Given the description of an element on the screen output the (x, y) to click on. 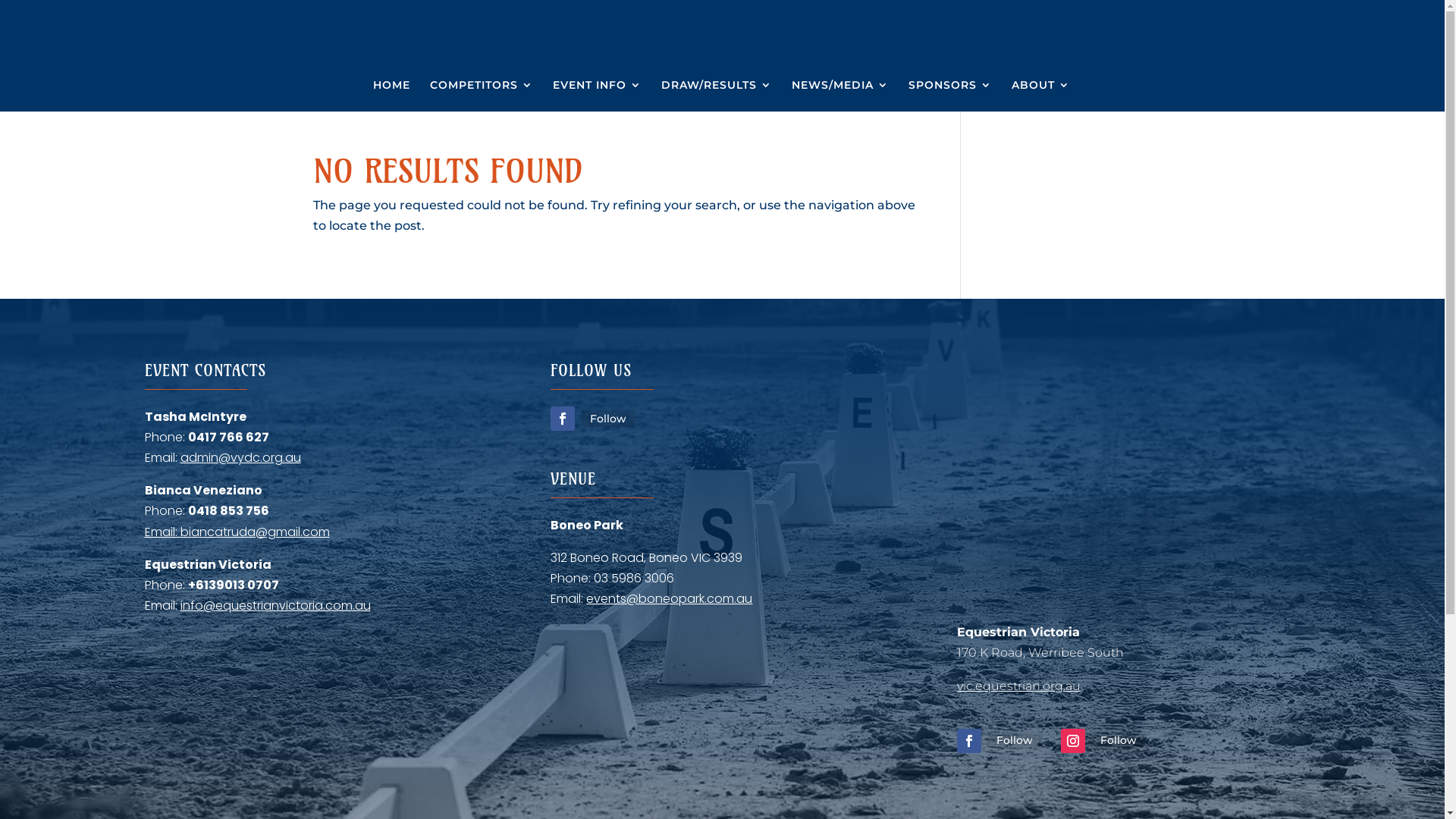
EVENT INFO Element type: text (596, 95)
0417 766 627 Element type: text (228, 436)
DRAW/RESULTS Element type: text (716, 95)
biancatruda@gmail.com Element type: text (254, 531)
Follow on Facebook Element type: hover (562, 418)
Follow on Instagram Element type: hover (1072, 740)
Follow on Facebook Element type: hover (969, 740)
info@equestrianvictoria.com.au Element type: text (275, 605)
SPONSORS Element type: text (949, 95)
Follow Element type: text (607, 418)
COMPETITORS Element type: text (481, 95)
ABOUT Element type: text (1040, 95)
admin@vydc.org.au Element type: text (240, 457)
events@boneopark.com.au Element type: text (669, 598)
Follow Element type: text (1118, 739)
HOME Element type: text (391, 95)
Follow Element type: text (1014, 739)
+6139013 0707 Element type: text (233, 584)
0418 853 756 Element type: text (228, 510)
03 5986 3006 Element type: text (633, 577)
vic.equestrian.org.au Element type: text (1018, 685)
NEWS/MEDIA Element type: text (839, 95)
